Given the description of an element on the screen output the (x, y) to click on. 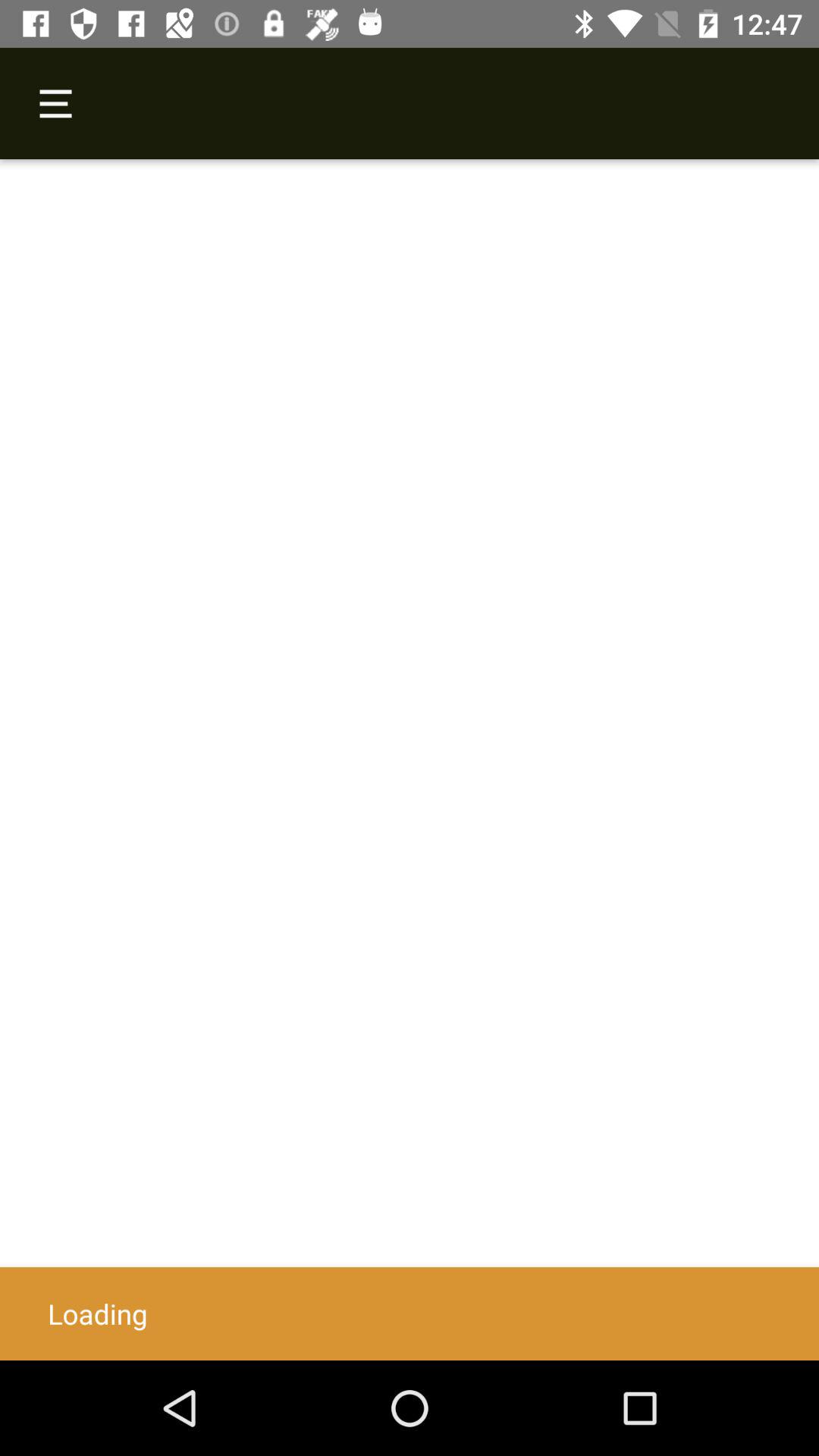
turn on item at the center (409, 759)
